Given the description of an element on the screen output the (x, y) to click on. 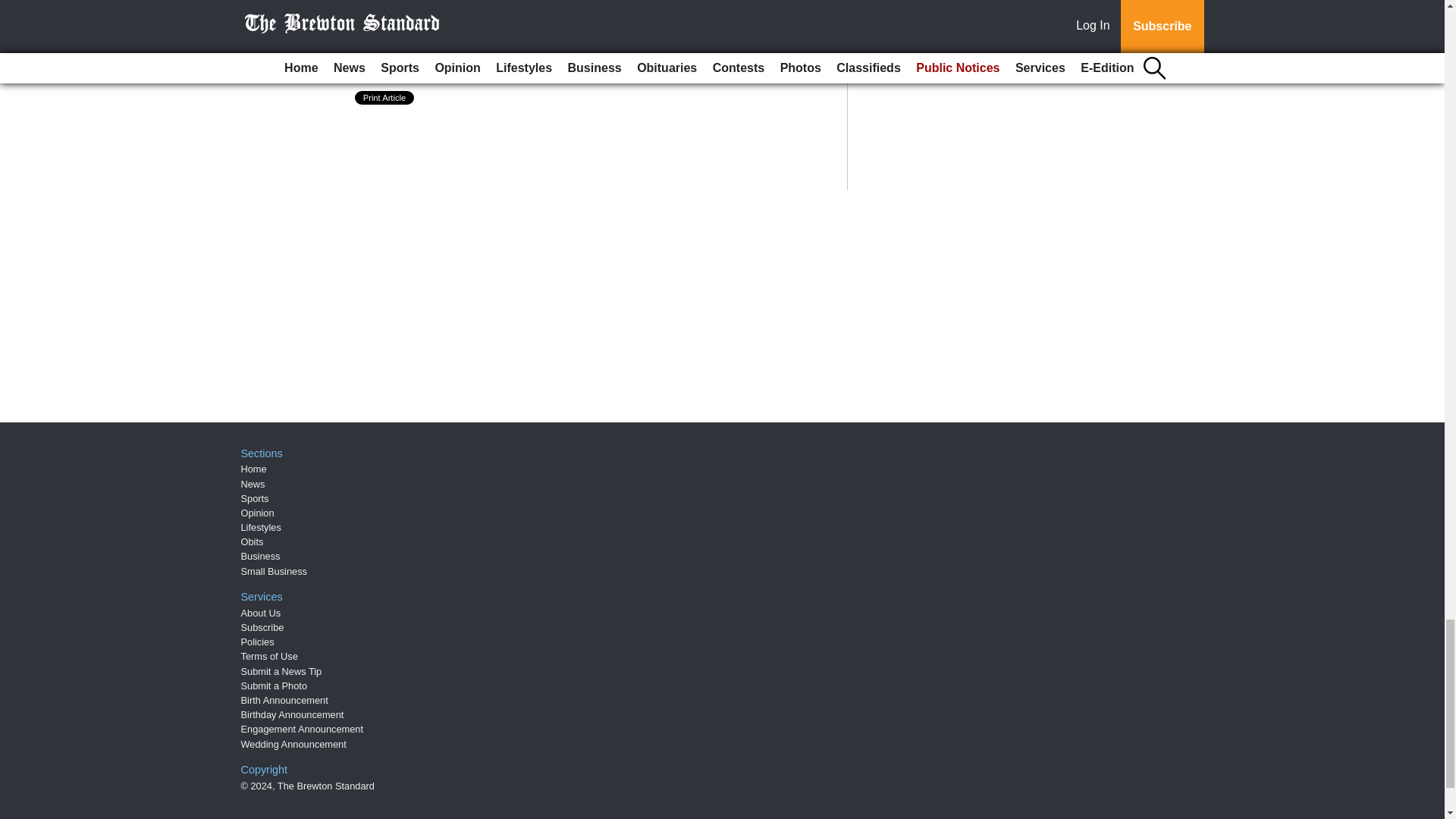
School tax savings bills passes both houses (521, 48)
Print Article (384, 97)
School tax savings bills passes both houses (521, 48)
